Given the description of an element on the screen output the (x, y) to click on. 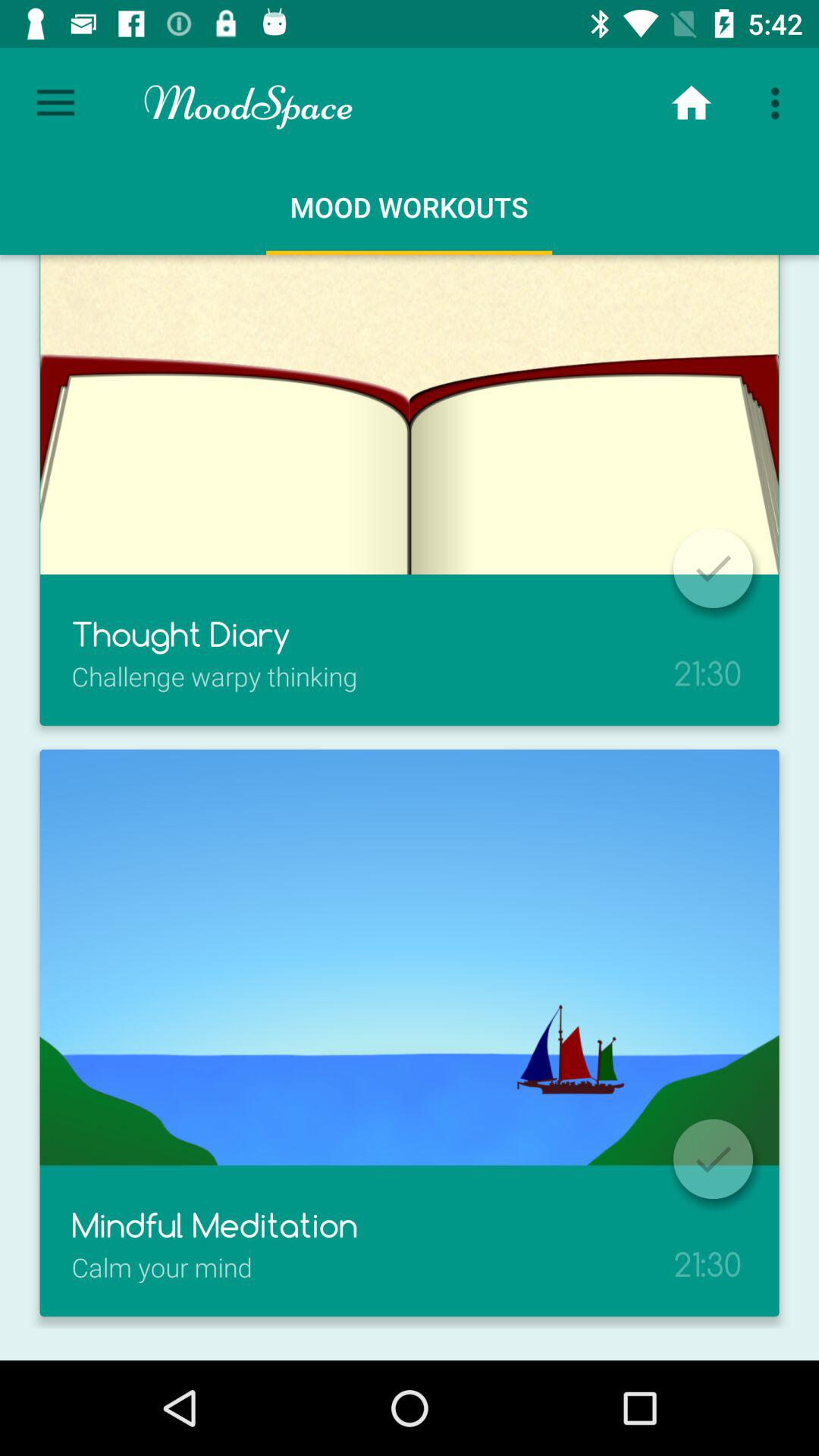
turn on the item next to the moodspace (55, 103)
